Given the description of an element on the screen output the (x, y) to click on. 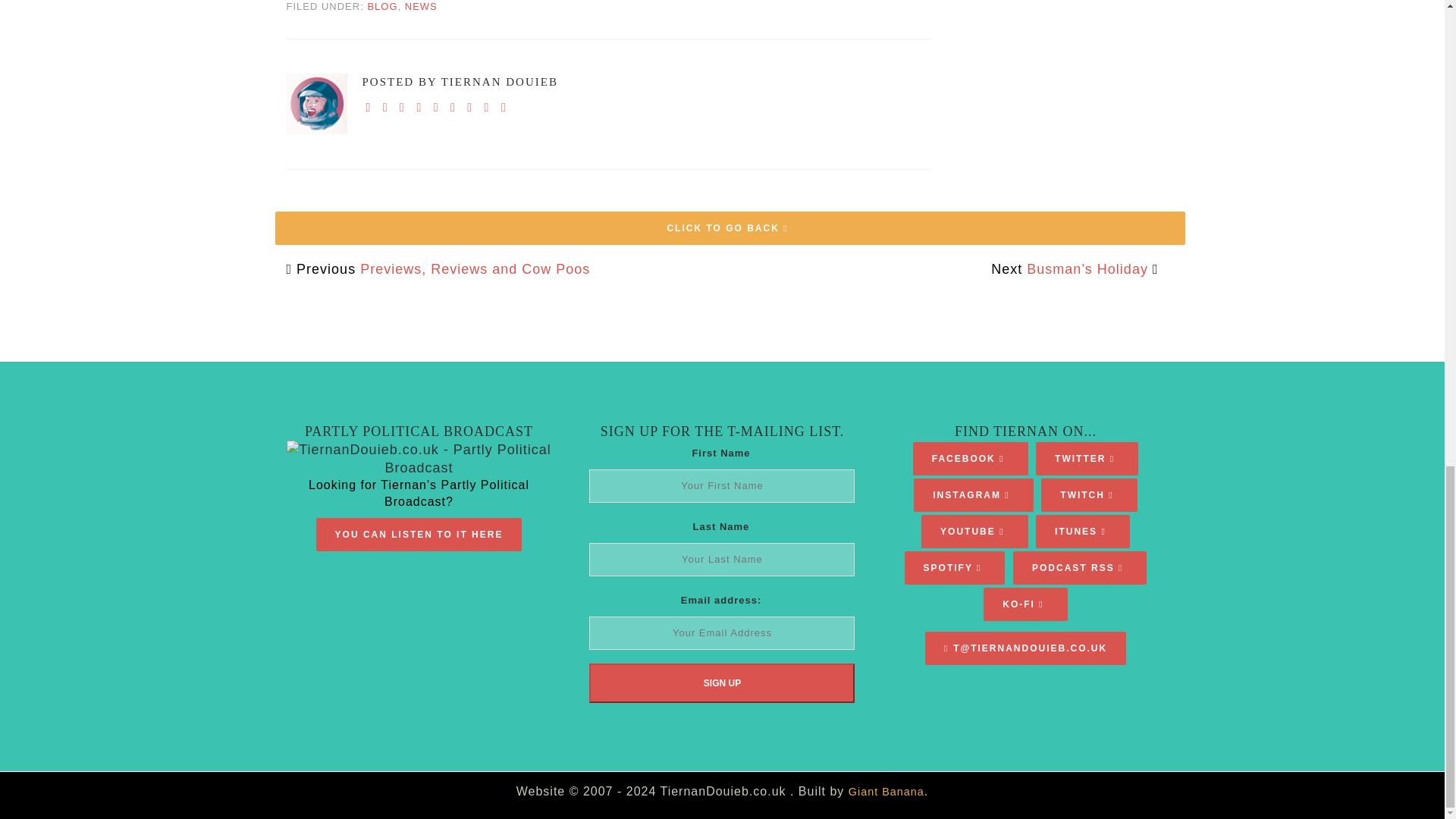
SIGN UP FOR THE T-MAILING LIST. (721, 431)
YOU CAN LISTEN TO IT HERE (418, 534)
PARTLY POLITICAL BROADCAST (418, 431)
CLICK TO GO BACK (730, 227)
Sign up (721, 682)
NEWS (421, 6)
YOU CAN LISTEN TO IT HERE (418, 534)
TiernanDouieb.co.uk  - Partly Political Broadcast (418, 458)
Tiernan Douieb (316, 103)
BLOG (381, 6)
